Given the description of an element on the screen output the (x, y) to click on. 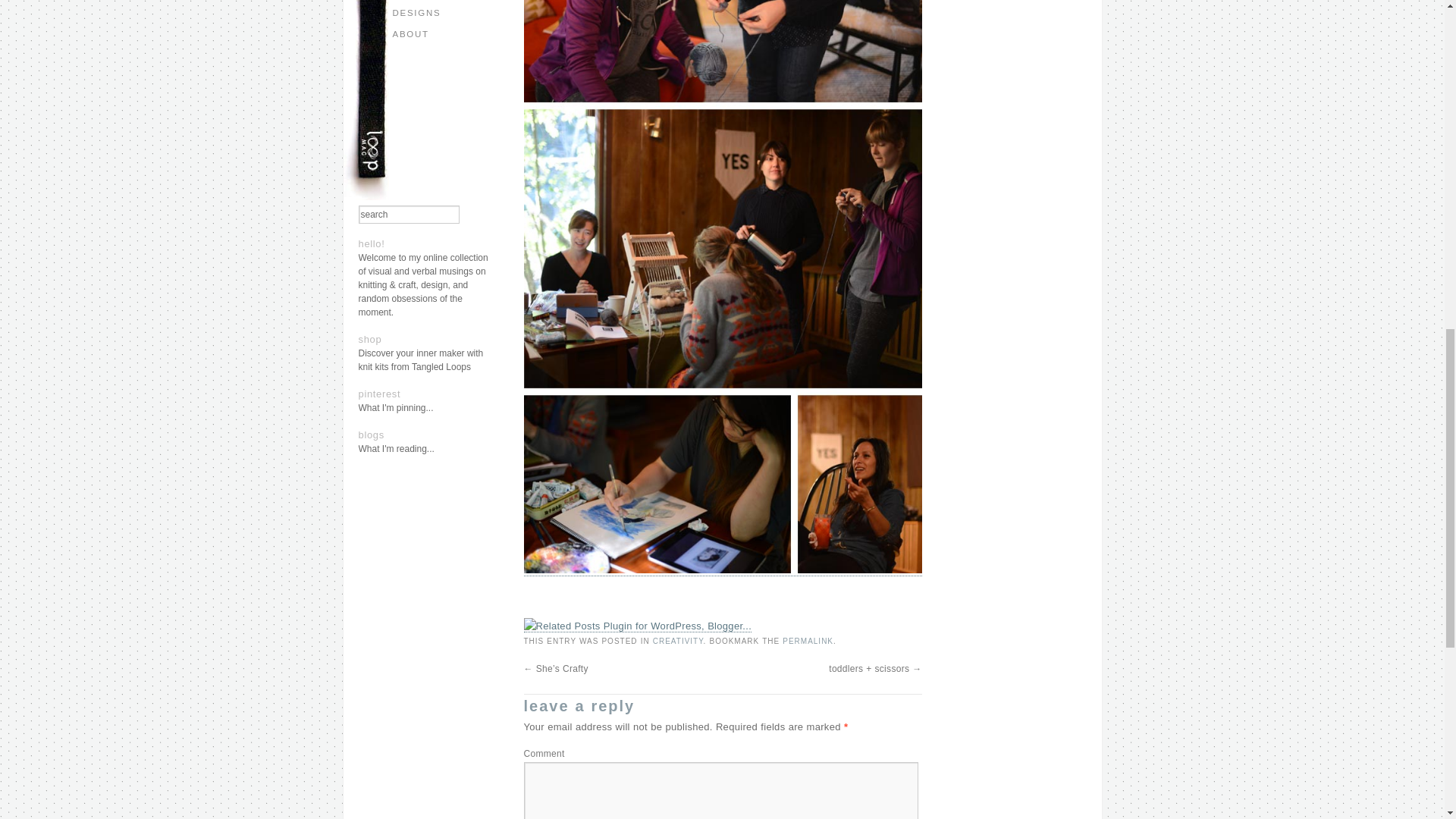
Permalink to Craftcation! (807, 641)
CREATIVITY (677, 641)
PERMALINK (807, 641)
